Given the description of an element on the screen output the (x, y) to click on. 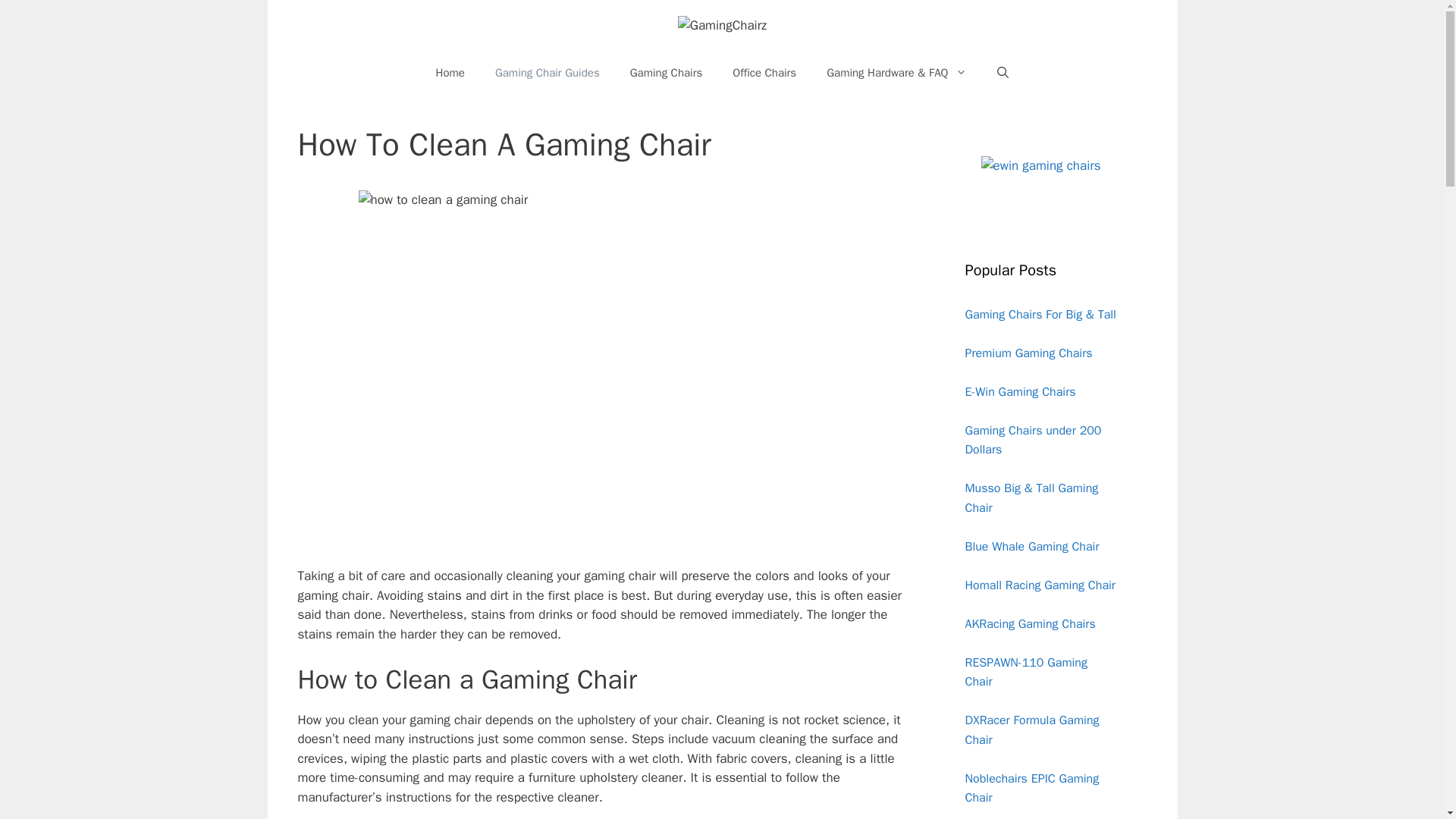
Blue Whale Gaming Chair (1031, 546)
Gaming Chairs (665, 72)
Premium Gaming Chairs (1027, 353)
Noblechairs EPIC Gaming Chair (1031, 788)
Gaming Chair Guides (547, 72)
Homall Racing Gaming Chair (1039, 585)
Gaming Chairs under 200 Dollars (1031, 440)
E-Win Gaming Chairs (1019, 391)
RESPAWN-110 Gaming Chair (1024, 672)
Home (450, 72)
AKRacing Gaming Chairs (1028, 623)
Office Chairs (763, 72)
DXRacer Formula Gaming Chair (1031, 729)
